Given the description of an element on the screen output the (x, y) to click on. 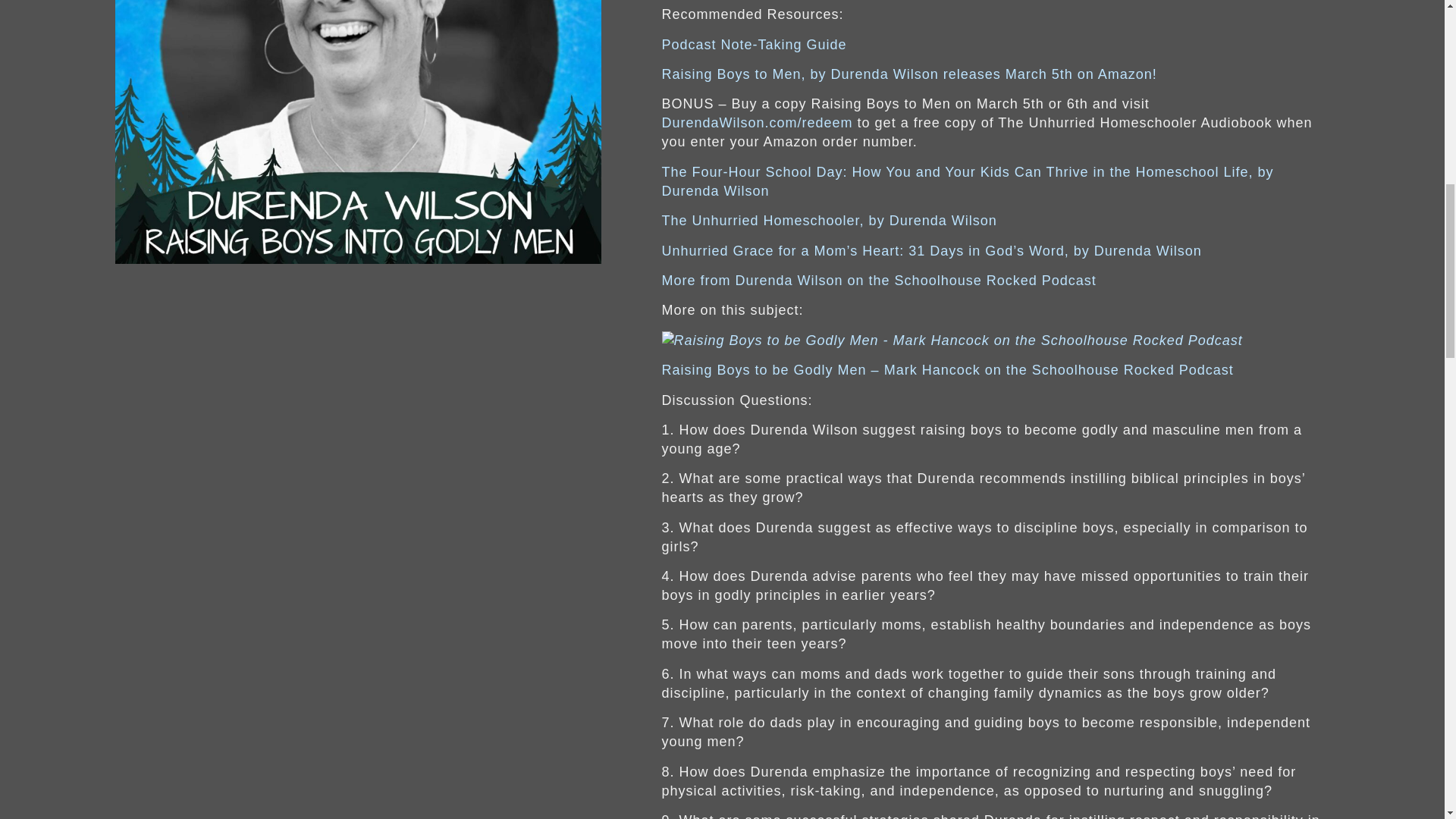
The Unhurried Homeschooler, by Durenda Wilson (828, 220)
Podcast Note-Taking Guide (753, 44)
More from Durenda Wilson on the Schoolhouse Rocked Podcast (878, 280)
